Given the description of an element on the screen output the (x, y) to click on. 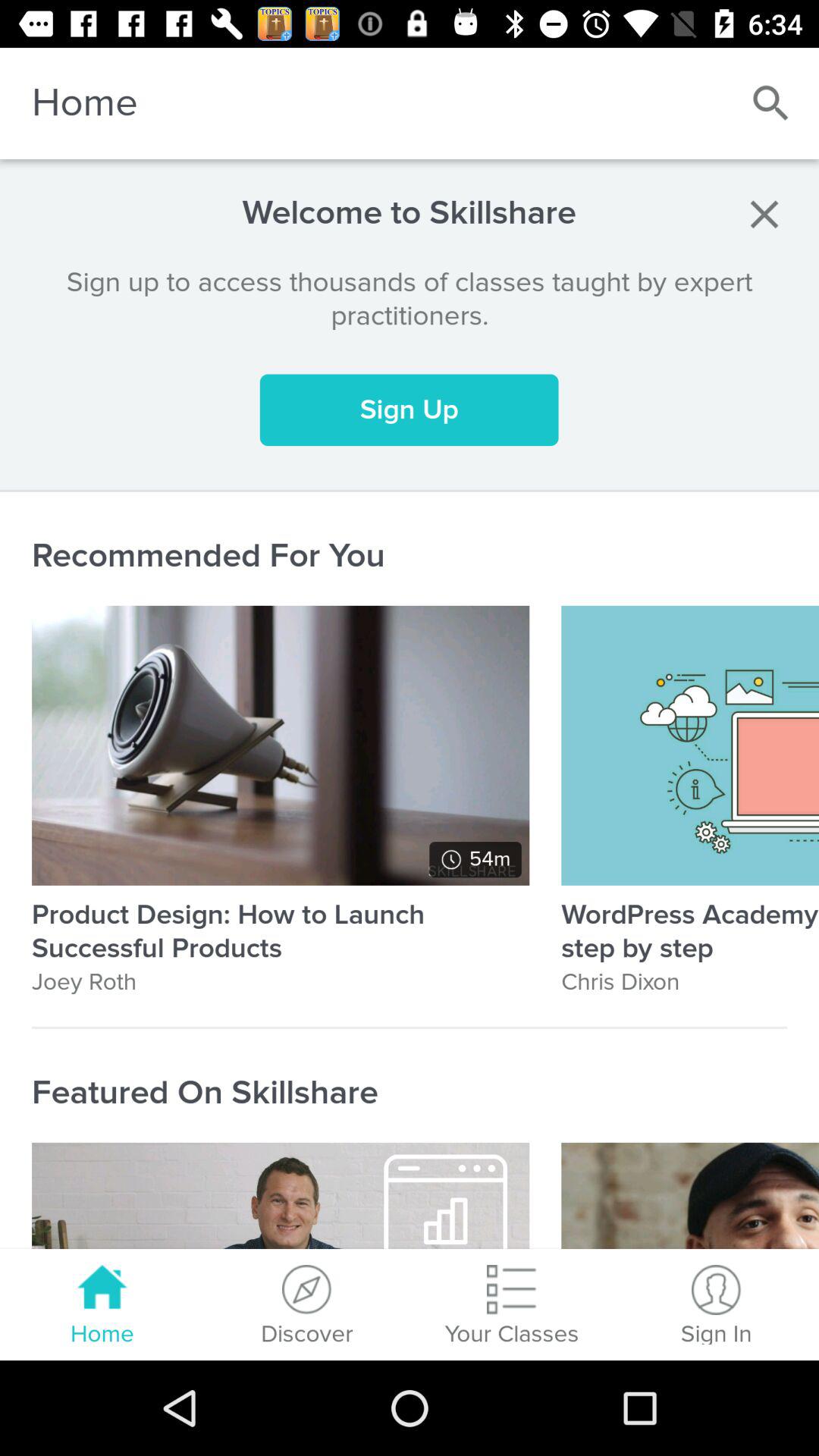
choose the item next to welcome to skillshare icon (764, 214)
